Given the description of an element on the screen output the (x, y) to click on. 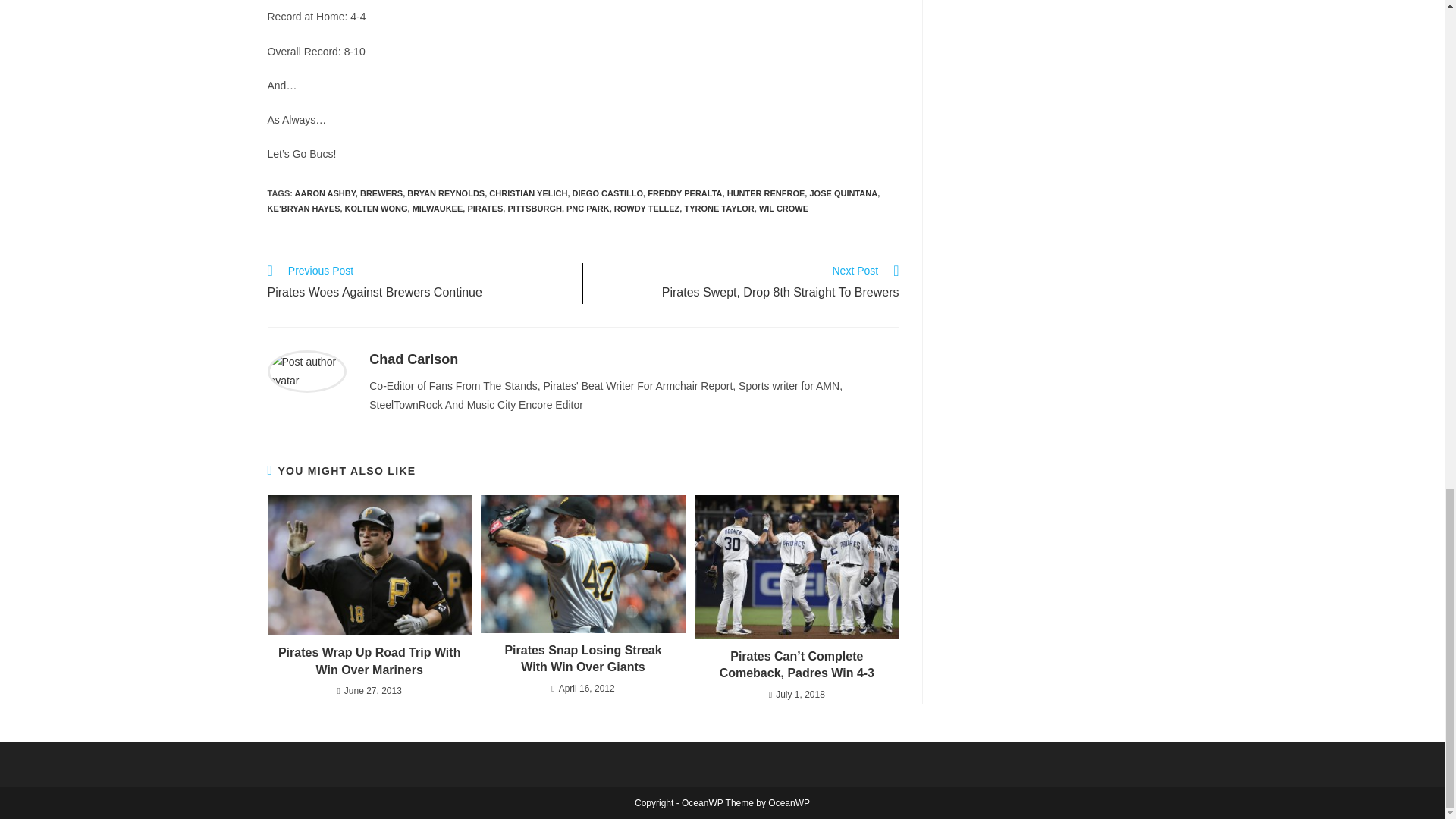
BRYAN REYNOLDS (445, 193)
HUNTER RENFROE (765, 193)
FREDDY PERALTA (684, 193)
WIL CROWE (783, 207)
Pirates Wrap Up Road Trip With Win Over Mariners (368, 661)
TYRONE TAYLOR (719, 207)
CHRISTIAN YELICH (528, 193)
BREWERS (381, 193)
AARON ASHBY (325, 193)
MILWAUKEE (437, 207)
PITTSBURGH (534, 207)
DIEGO CASTILLO (607, 193)
ROWDY TELLEZ (748, 282)
